Given the description of an element on the screen output the (x, y) to click on. 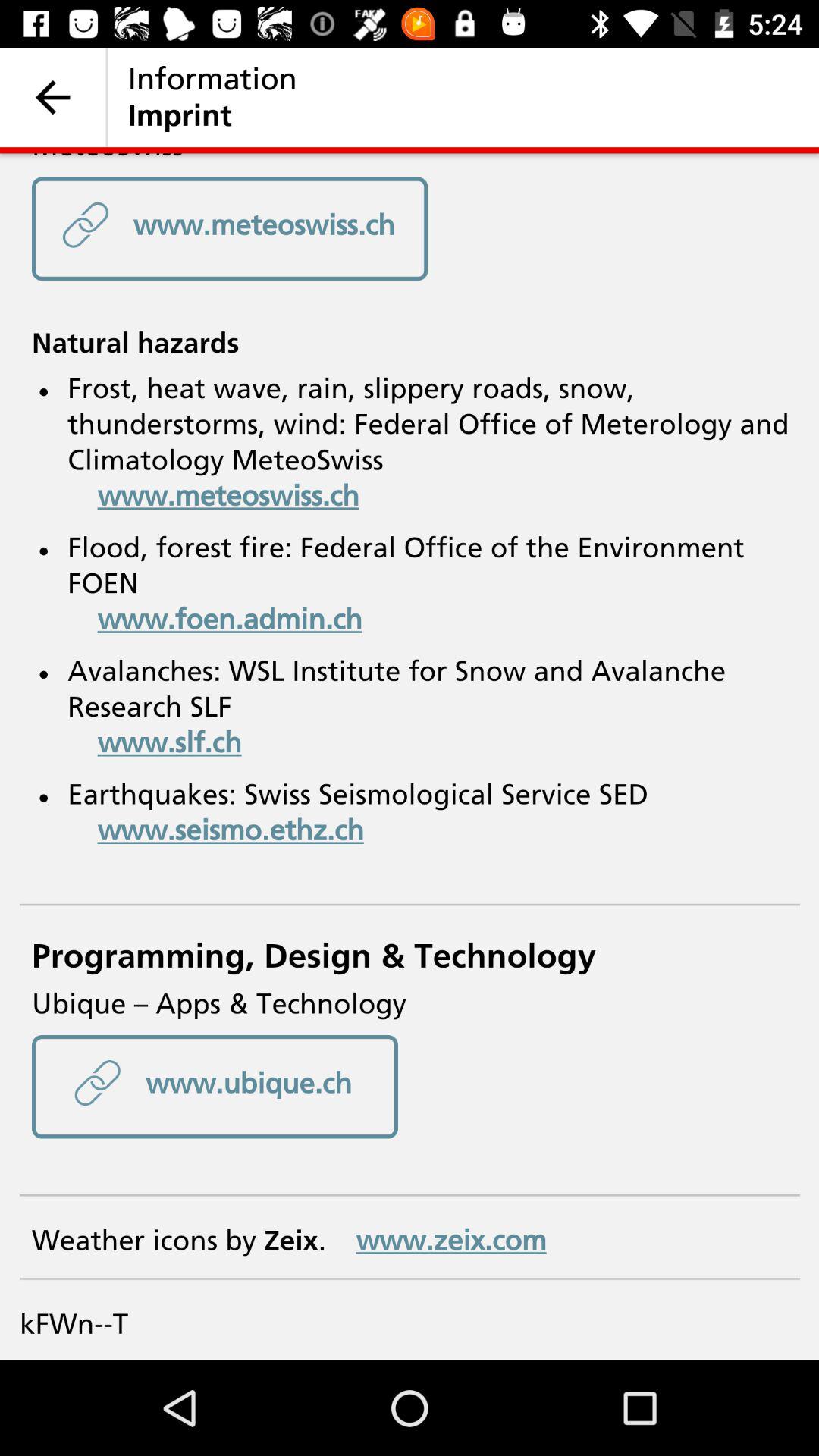
click to go to webpage (409, 756)
